Given the description of an element on the screen output the (x, y) to click on. 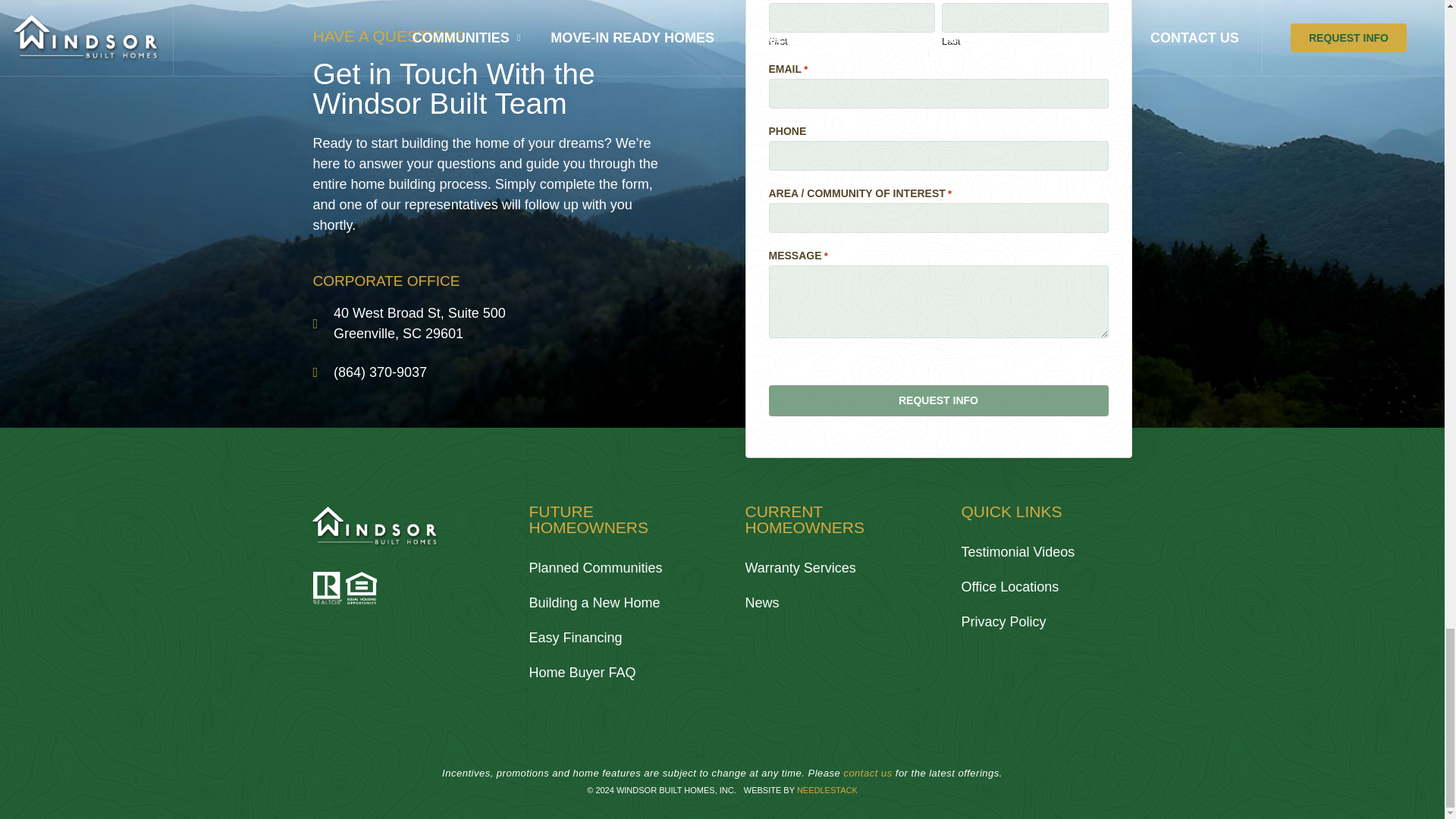
REQUEST INFO (938, 400)
